Given the description of an element on the screen output the (x, y) to click on. 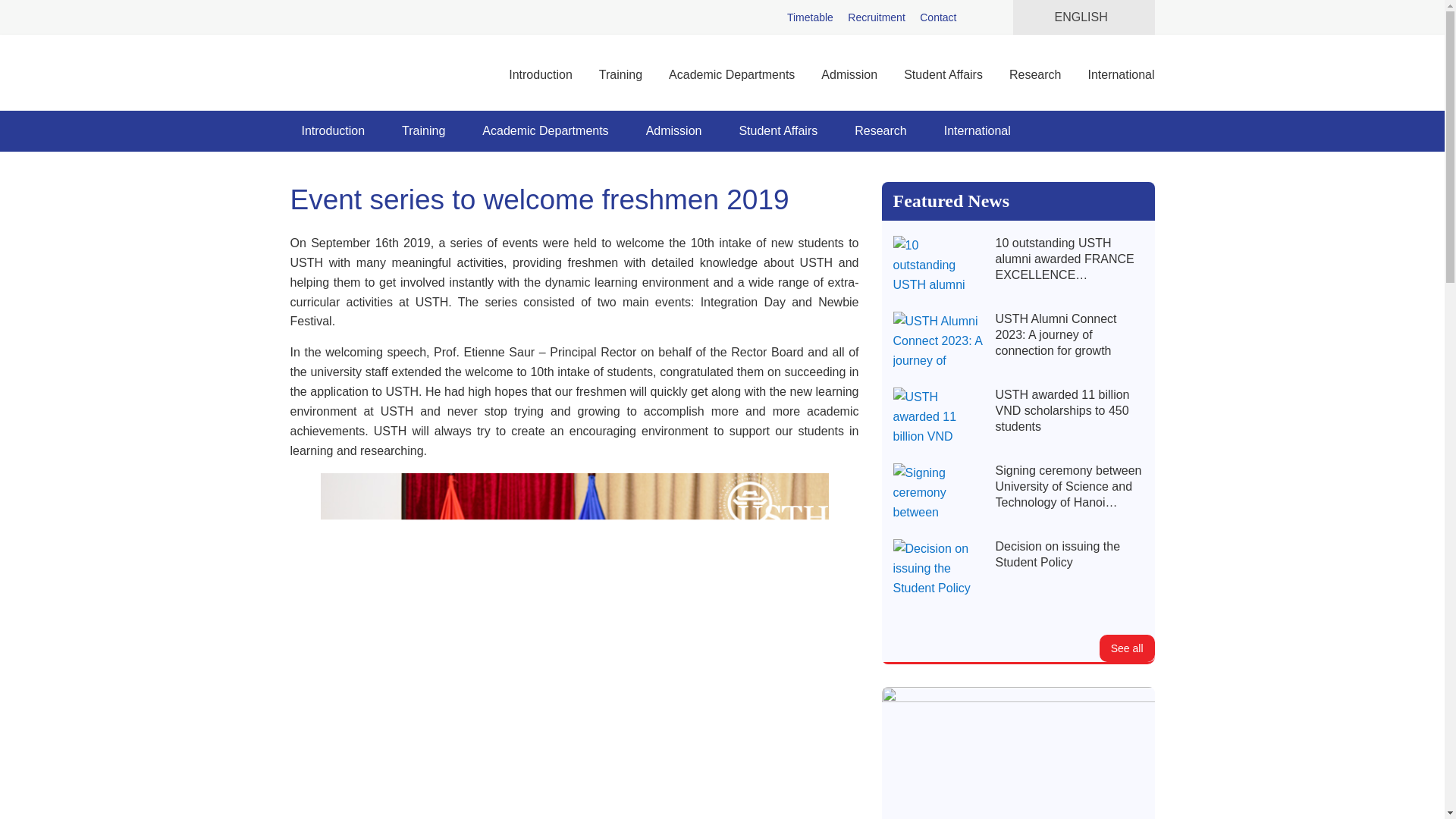
UNIVERSITY OF SCIENCE AND TECHNOLOGY OF HANOI (342, 72)
Contact (938, 17)
USTH awarded 11 billion VND scholarships to 450 students (938, 417)
Student Affairs (943, 74)
Research (1034, 74)
Academic Departments (732, 74)
USTH Alumni Connect 2023: A journey of connection for growth (1068, 335)
Admission (848, 74)
Timetable (809, 17)
USTH Alumni Connect 2023: A journey of connection for growth (938, 342)
News SS (1126, 647)
Introduction (332, 130)
USTH awarded 11 billion VND scholarships to 450 students (1068, 410)
Decision on issuing the Student Policy (938, 569)
